Given the description of an element on the screen output the (x, y) to click on. 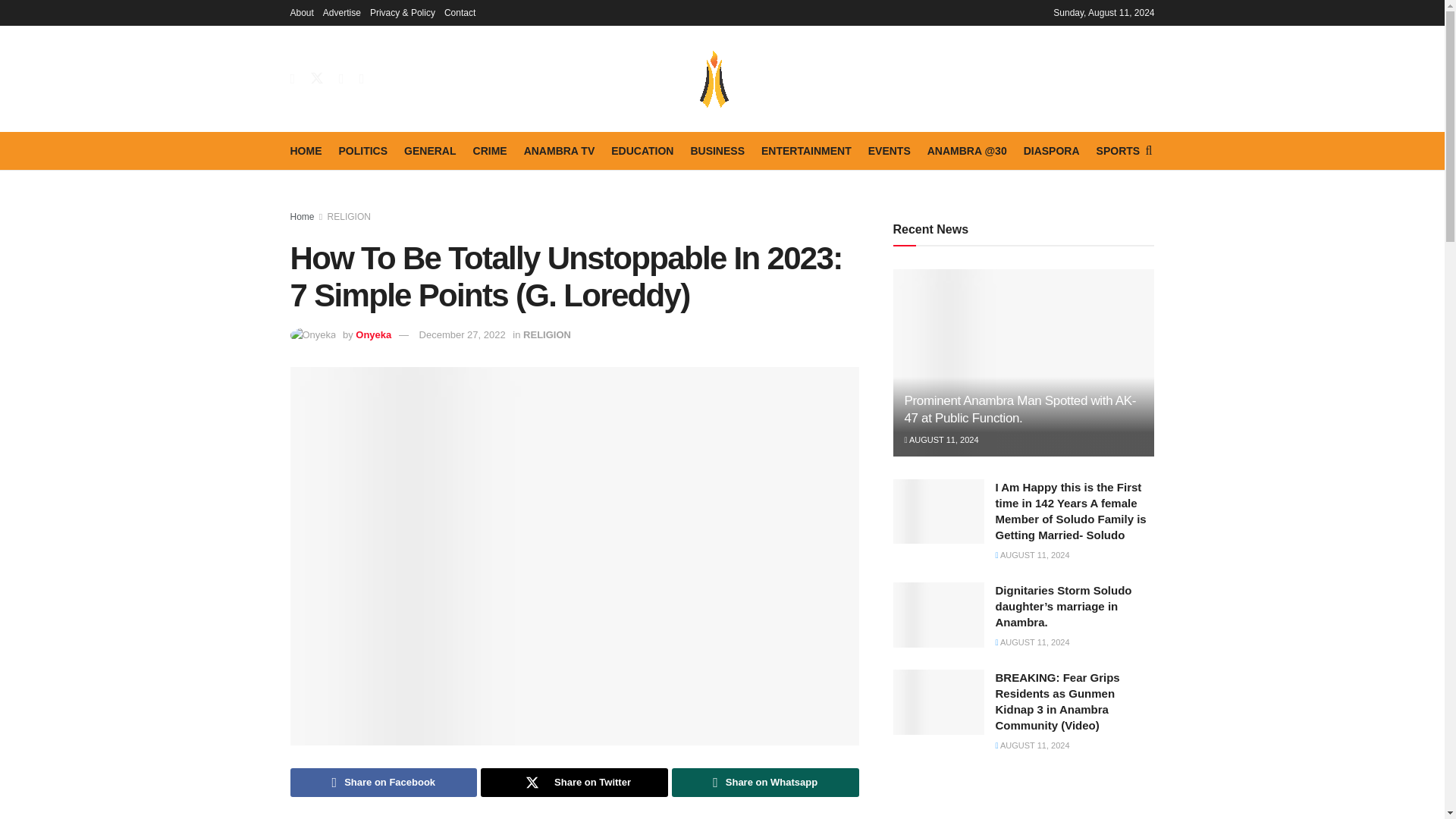
Contact (460, 12)
DIASPORA (1051, 150)
SPORTS (1118, 150)
ENTERTAINMENT (806, 150)
POLITICS (362, 150)
ANAMBRA TV (559, 150)
Advertise (342, 12)
EVENTS (889, 150)
BUSINESS (717, 150)
HOME (305, 150)
